Given the description of an element on the screen output the (x, y) to click on. 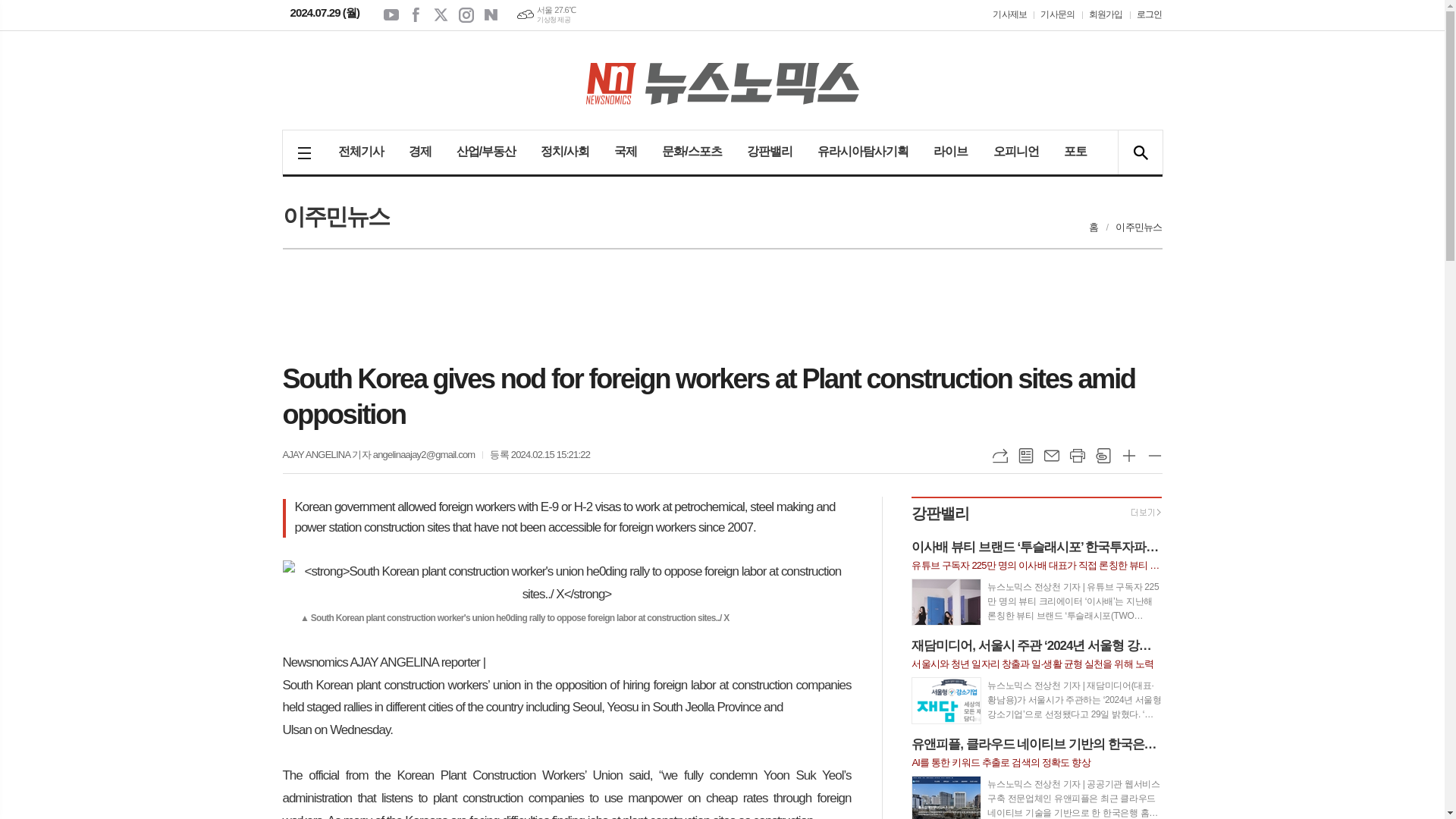
Advertisement (721, 305)
